Given the description of an element on the screen output the (x, y) to click on. 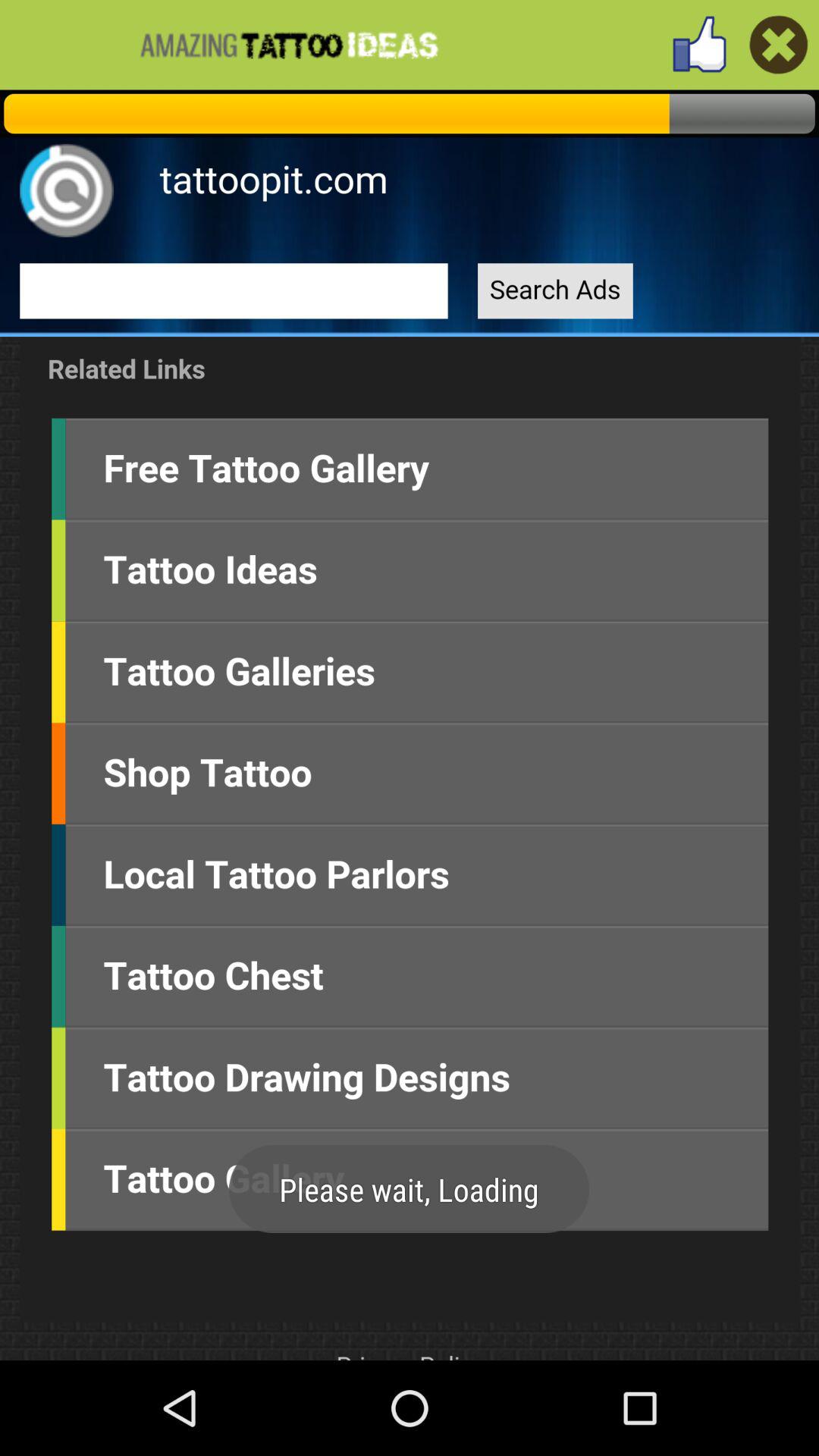
close like on facebook (778, 44)
